Given the description of an element on the screen output the (x, y) to click on. 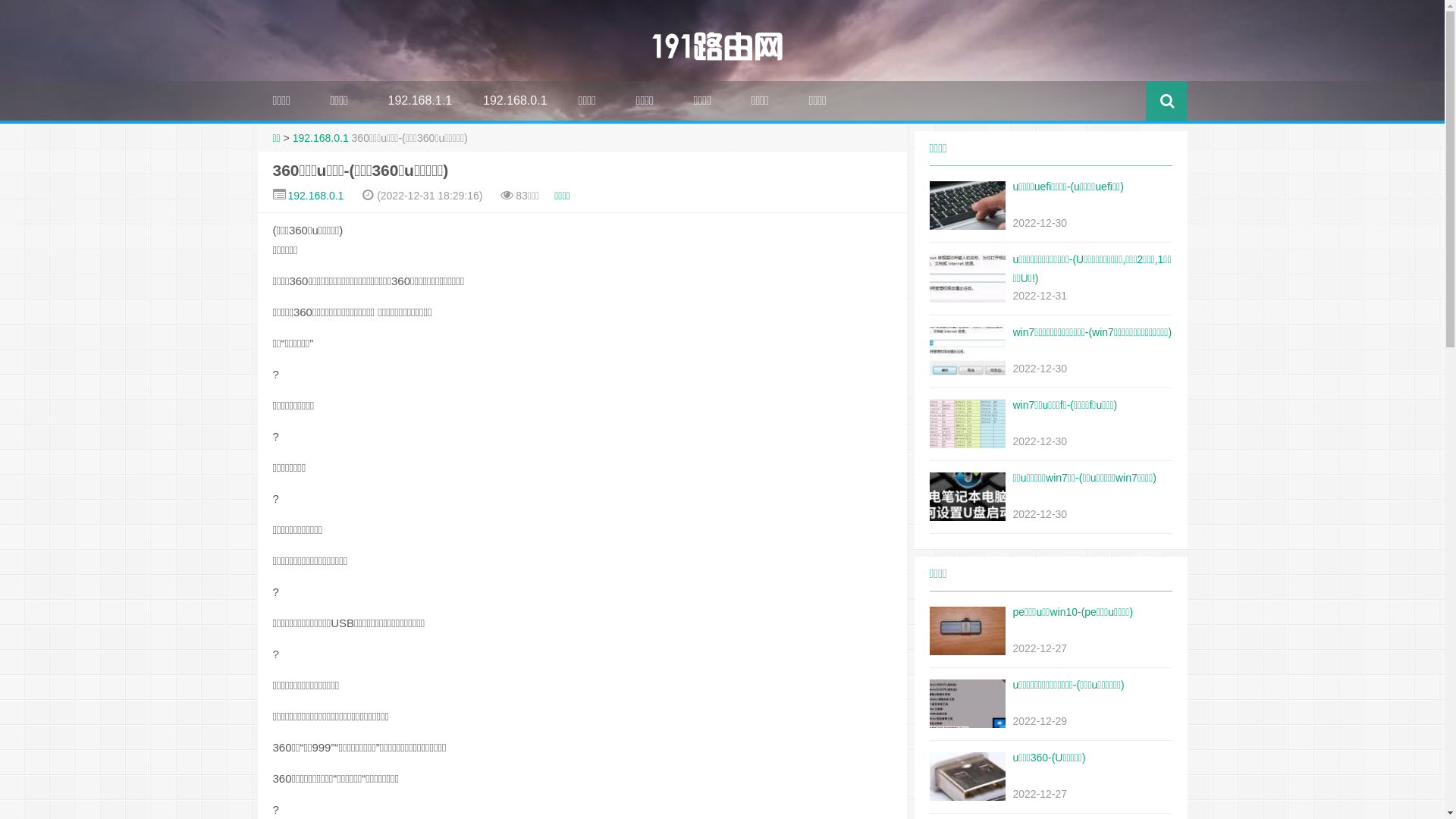
192.168.0.1 Element type: text (320, 137)
192.168.1.1 Element type: text (420, 100)
192.168.0.1 Element type: text (314, 195)
192.168.0.1 Element type: text (514, 100)
